Given the description of an element on the screen output the (x, y) to click on. 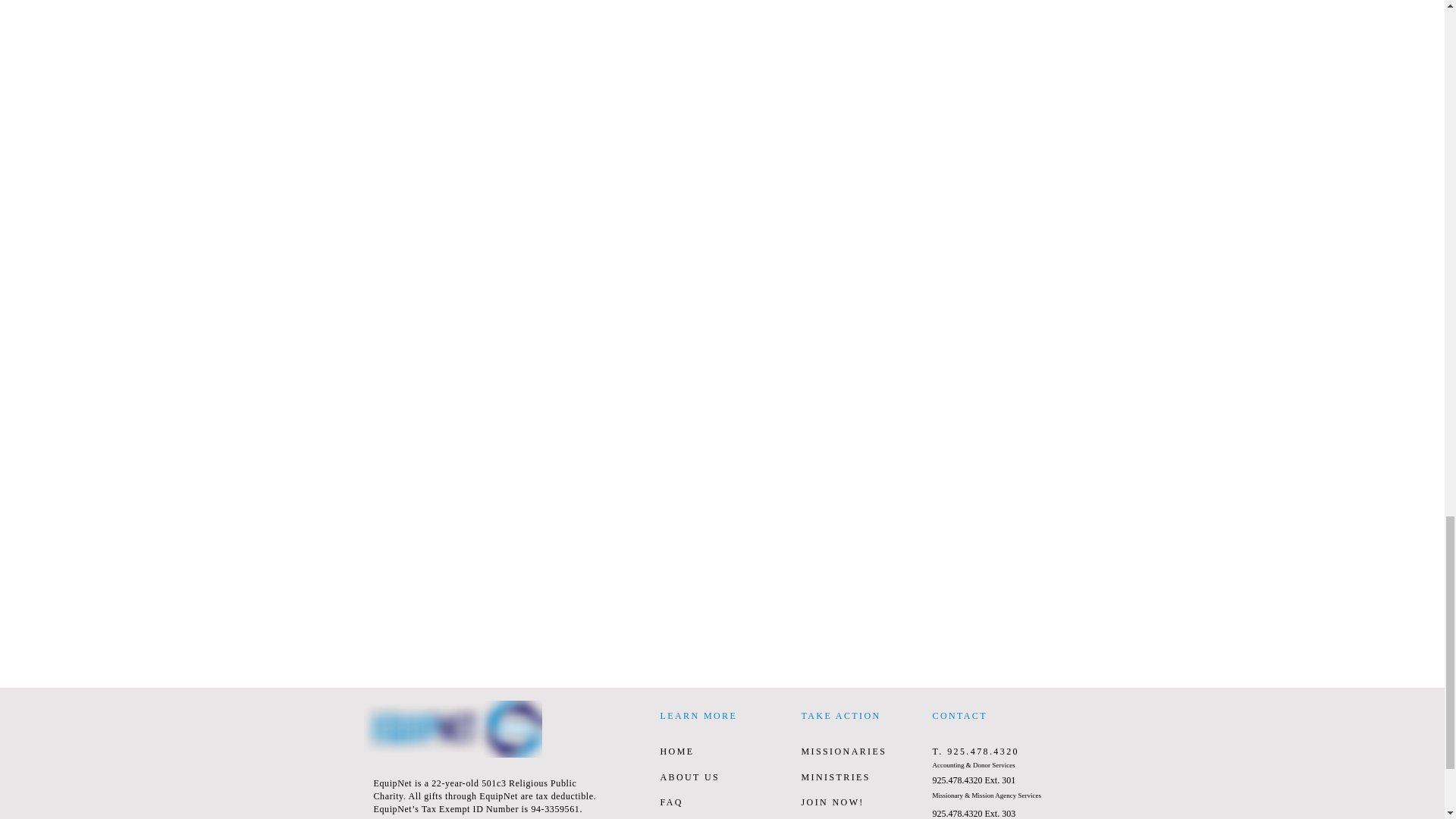
MISSIONARIES (843, 751)
JOIN NOW! (831, 801)
FAQ (670, 801)
ABOUT US (689, 777)
HOME (676, 751)
MINISTRIES (834, 777)
